Given the description of an element on the screen output the (x, y) to click on. 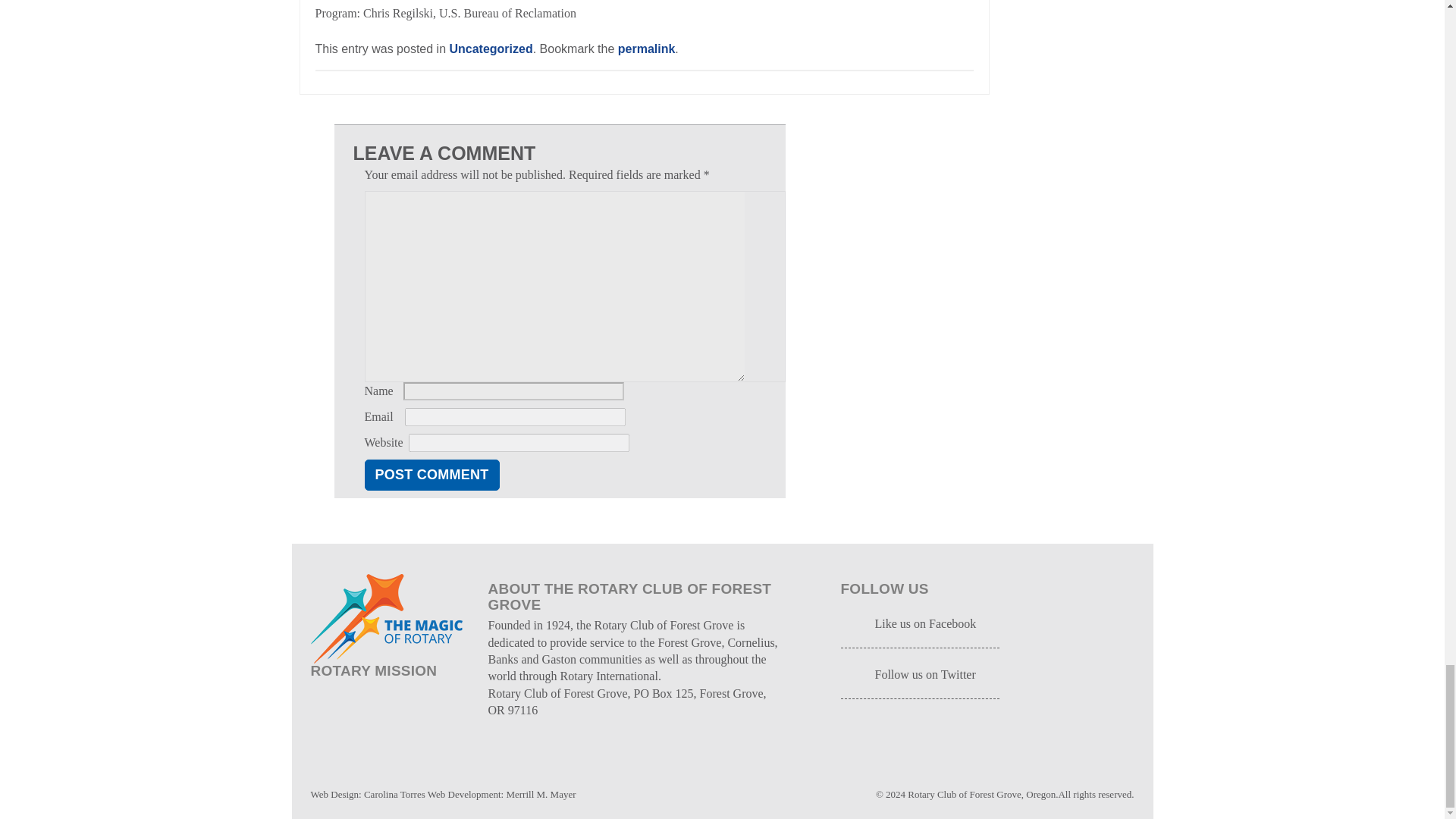
Post Comment (431, 474)
